Given the description of an element on the screen output the (x, y) to click on. 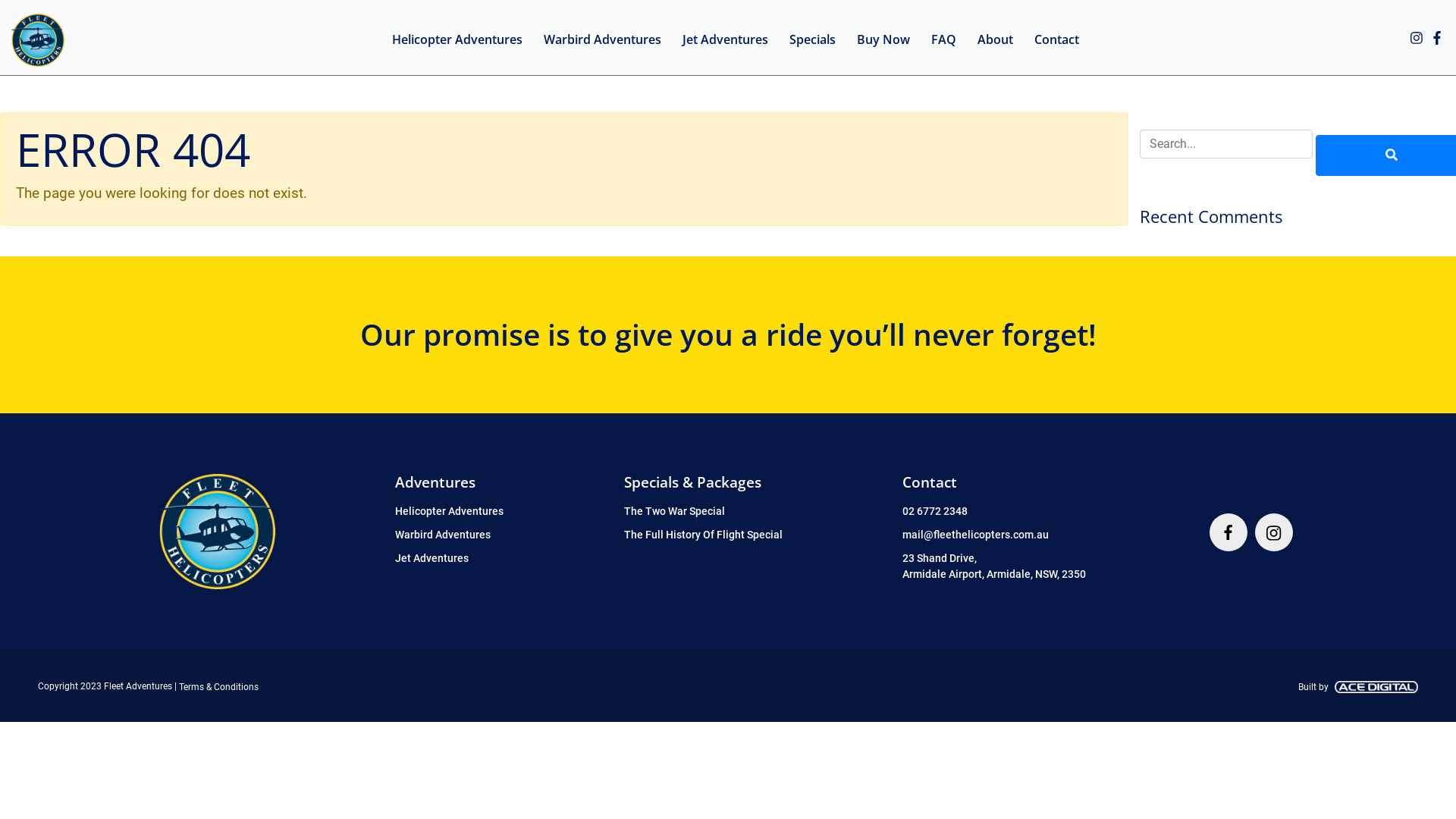
About Element type: text (995, 37)
Contact Element type: text (1056, 37)
02 6772 2348 Element type: text (934, 511)
Built by Element type: text (1358, 686)
The Full History Of Flight Special Element type: text (702, 534)
Buy Now Element type: text (883, 37)
Helicopter Adventures Element type: text (449, 511)
Warbird Adventures Element type: text (602, 37)
mail@fleethelicopters.com.au Element type: text (975, 534)
Helicopter Adventures Element type: text (457, 37)
Warbird Adventures Element type: text (442, 534)
The Two War Special Element type: text (673, 511)
Jet Adventures Element type: text (725, 37)
Specials Element type: text (812, 37)
FAQ Element type: text (943, 37)
Terms & Conditions Element type: text (218, 686)
Jet Adventures Element type: text (431, 558)
